Given the description of an element on the screen output the (x, y) to click on. 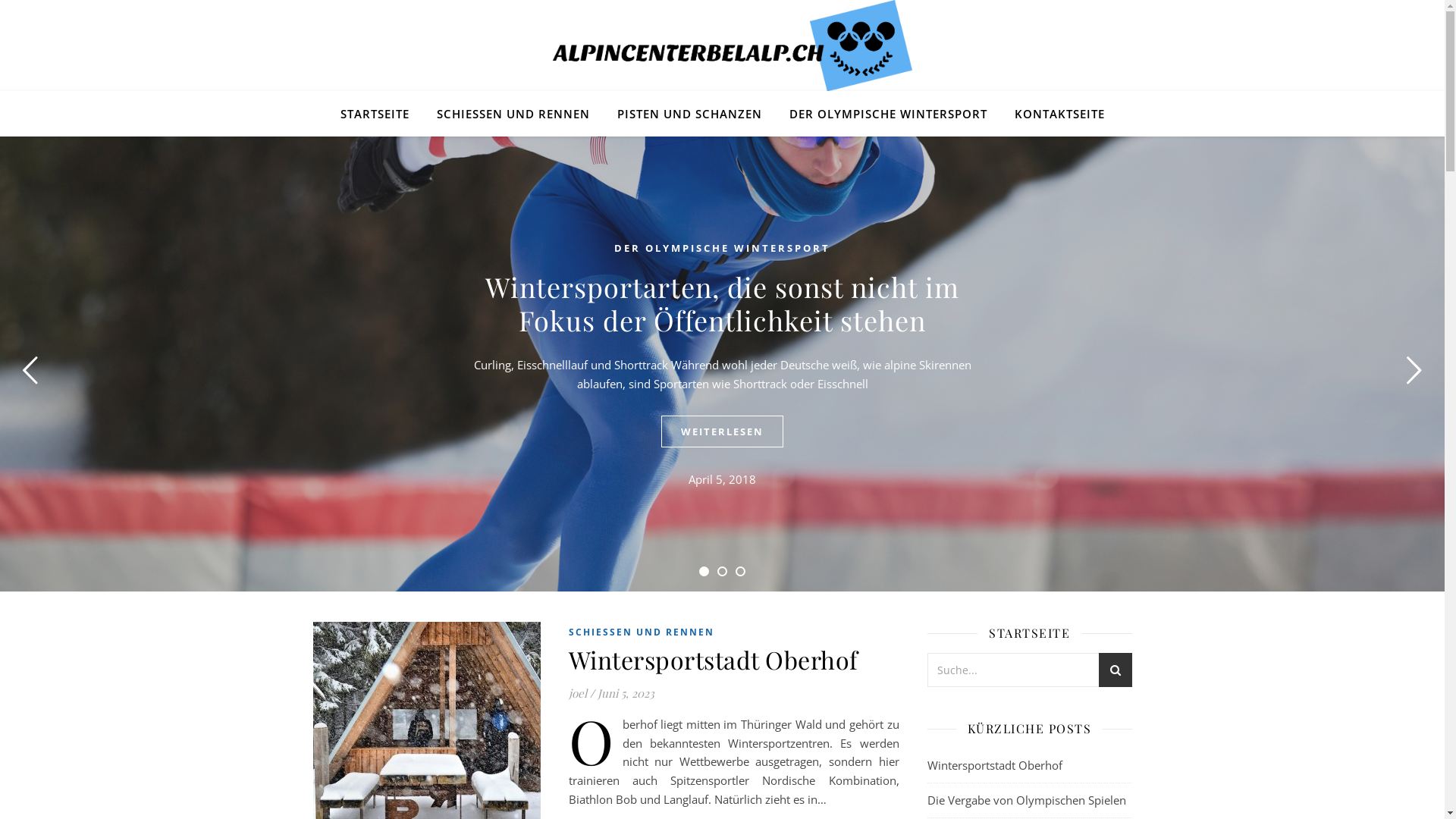
KONTAKTSEITE Element type: text (1053, 113)
SCHIESSEN UND RENNEN Element type: text (641, 631)
DER OLYMPISCHE WINTERSPORT Element type: text (887, 113)
Die Vergabe von Olympischen Spielen Element type: text (1025, 799)
Alpincenterbelalp.ch Element type: hover (721, 45)
SCHIESSEN UND RENNEN Element type: text (513, 113)
Wintersportstadt Oberhof Element type: text (993, 764)
st Element type: text (1114, 671)
WEITERLESEN Element type: text (722, 431)
Wintersportstadt Oberhof Element type: text (713, 659)
STARTSEITE Element type: text (379, 113)
DER OLYMPISCHE WINTERSPORT Element type: text (722, 247)
joel Element type: text (577, 693)
PISTEN UND SCHANZEN Element type: text (689, 113)
